Given the description of an element on the screen output the (x, y) to click on. 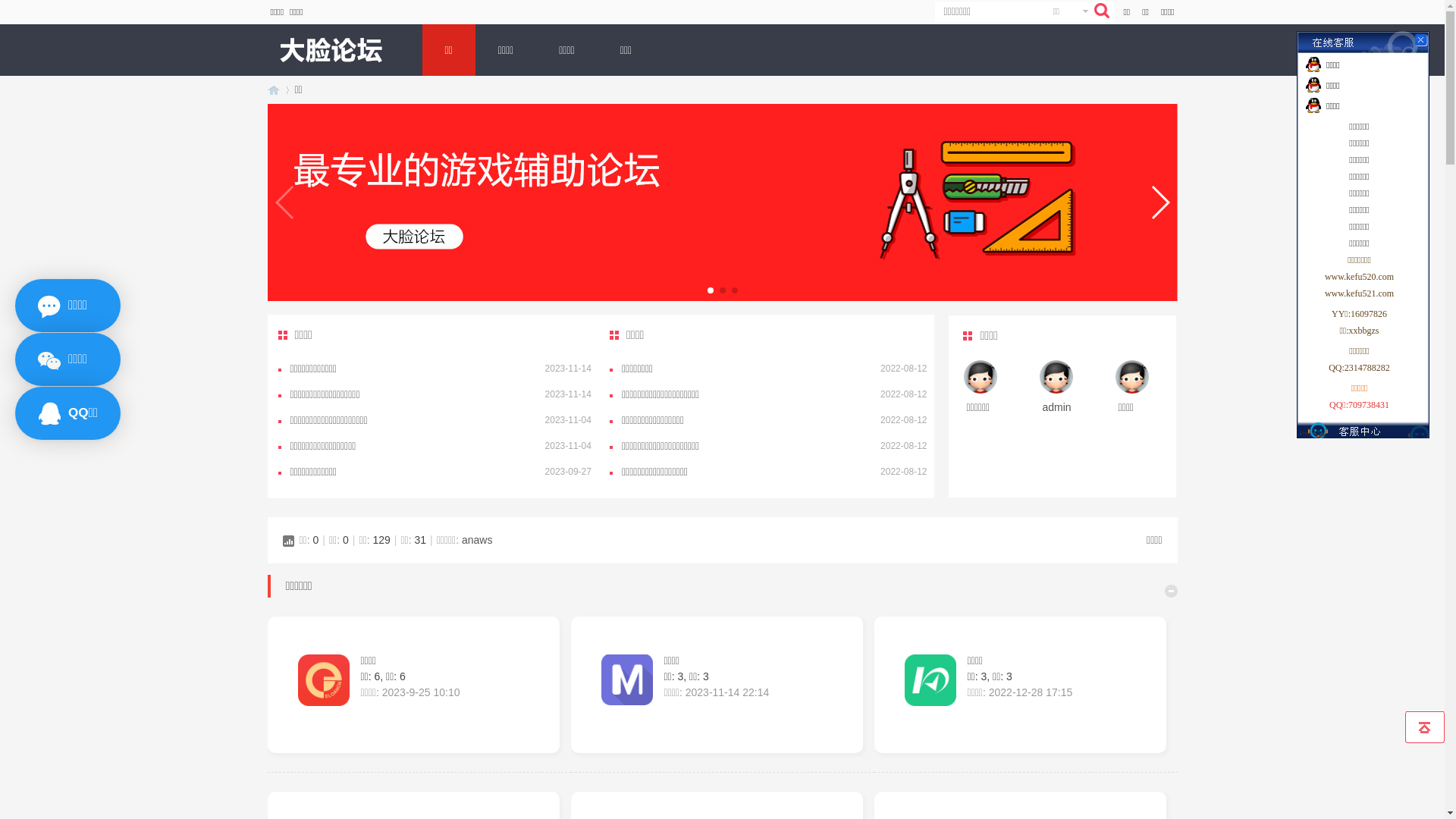
admin Element type: text (1055, 407)
anaws Element type: text (476, 539)
